Given the description of an element on the screen output the (x, y) to click on. 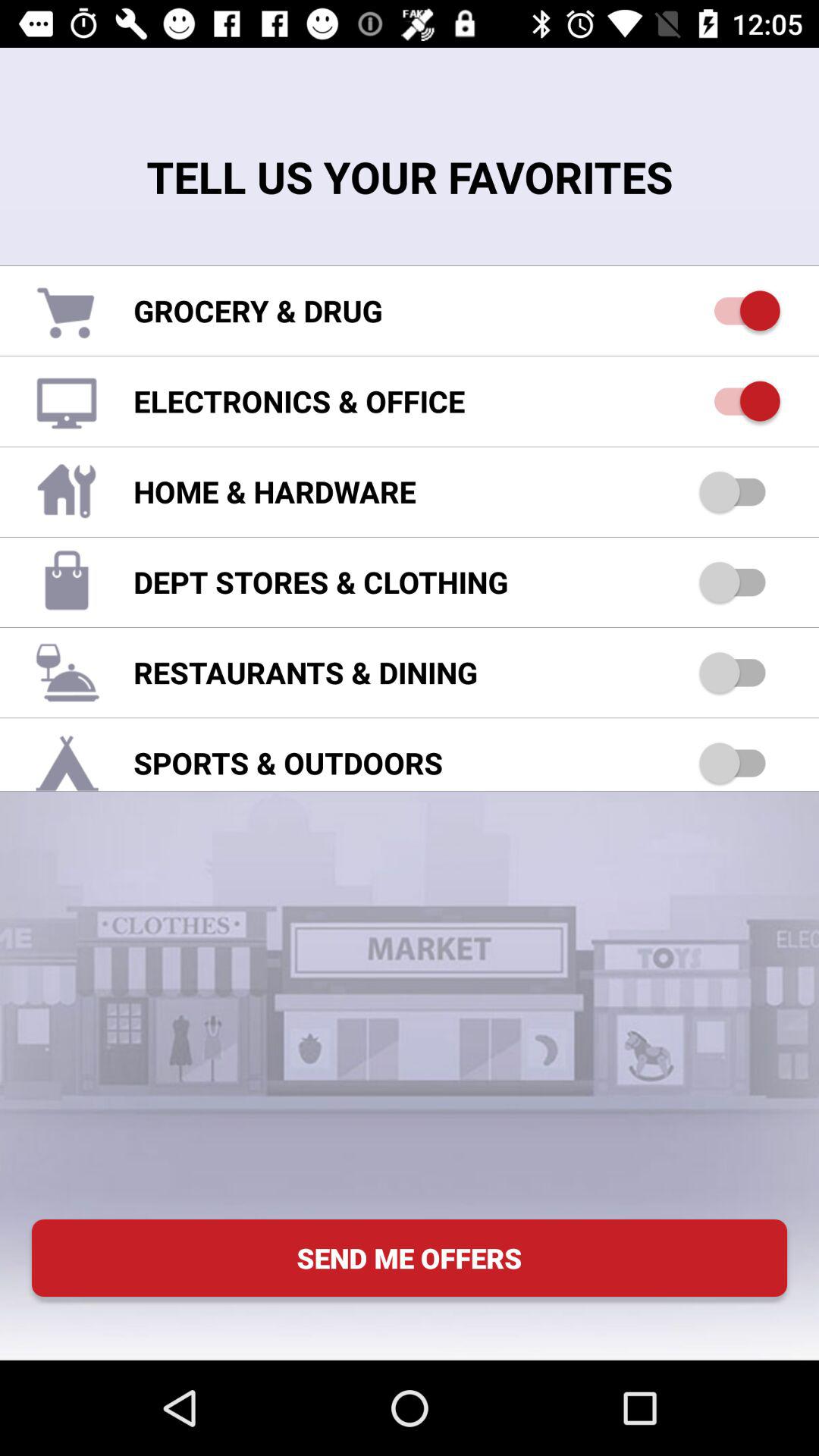
toggle dining option (739, 672)
